Given the description of an element on the screen output the (x, y) to click on. 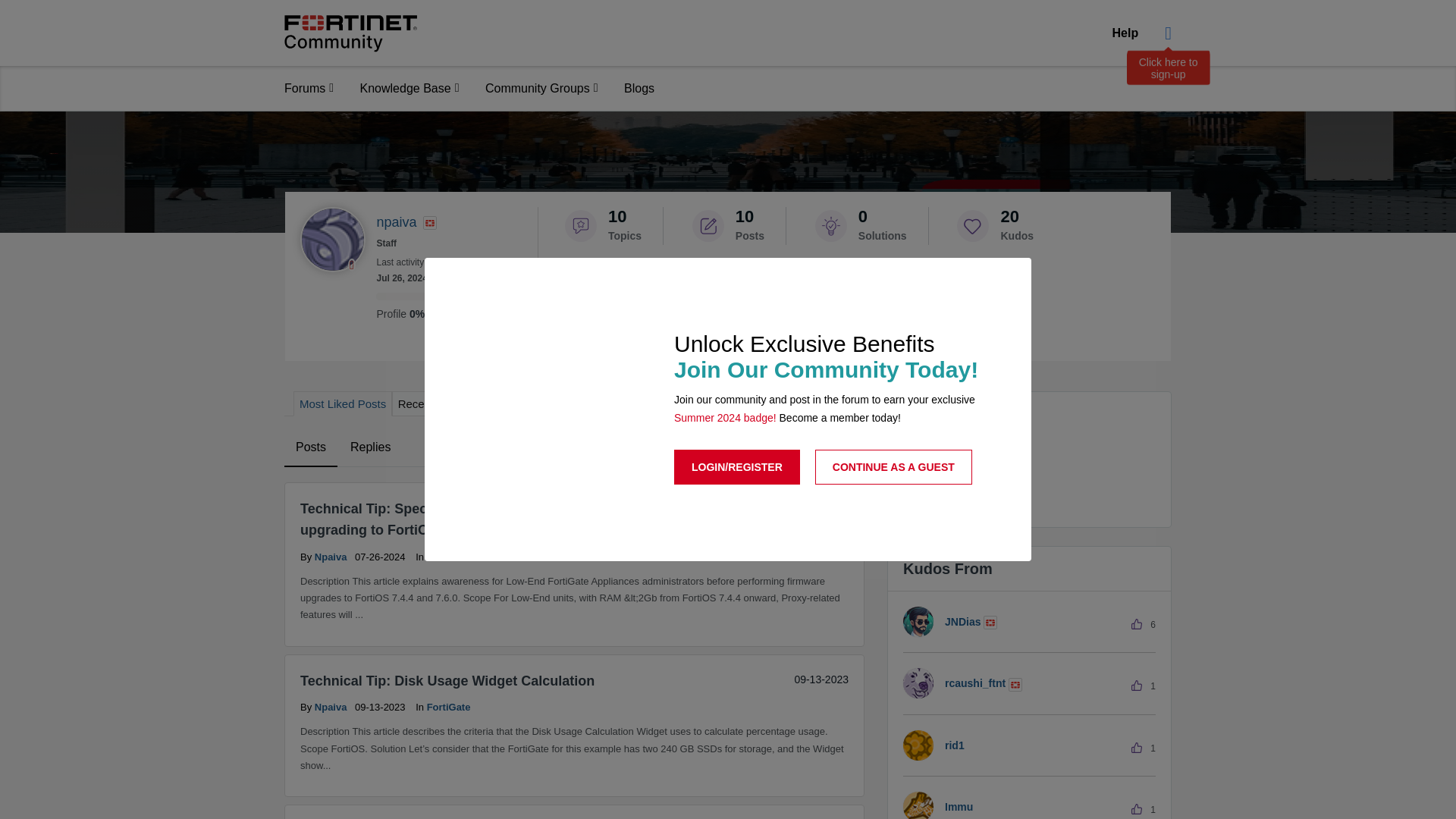
Knowledge Base (409, 88)
View profile (331, 555)
npaiva (332, 239)
07-26-2024 03:47 PM 07-26-2024 03:47 PM (820, 507)
09-13-2023 03:45 PM 09-13-2023 03:45 PM (820, 679)
View profile (331, 706)
Staff (429, 223)
First Kudos Given (587, 430)
Summer 2024 (650, 289)
1st Birthday (836, 359)
